Given the description of an element on the screen output the (x, y) to click on. 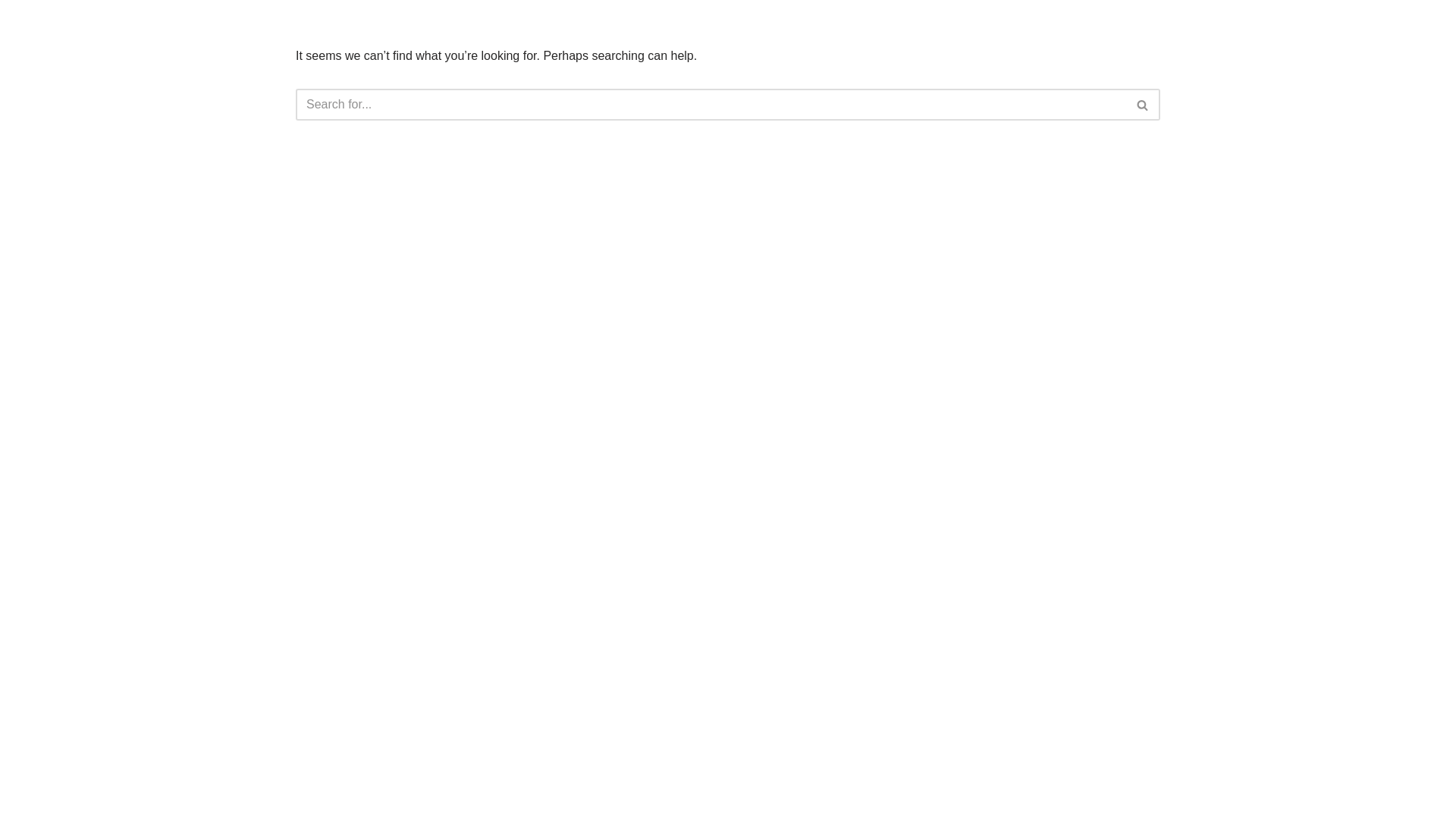
WordPress Element type: text (431, 533)
Neve Element type: text (309, 533)
Skip to content Element type: text (11, 31)
